Given the description of an element on the screen output the (x, y) to click on. 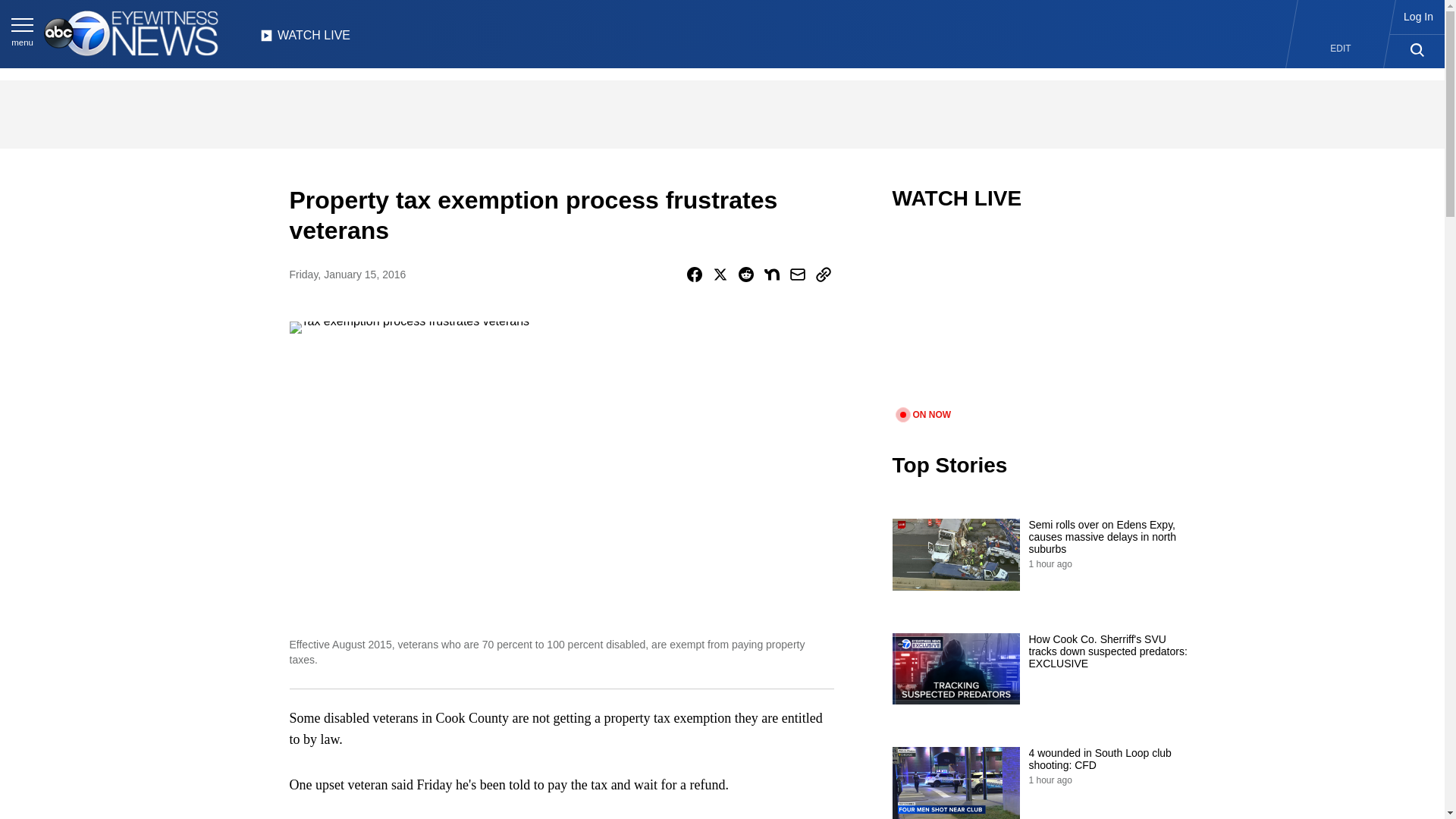
WATCH LIVE (305, 39)
video.title (1043, 318)
EDIT (1340, 48)
